Given the description of an element on the screen output the (x, y) to click on. 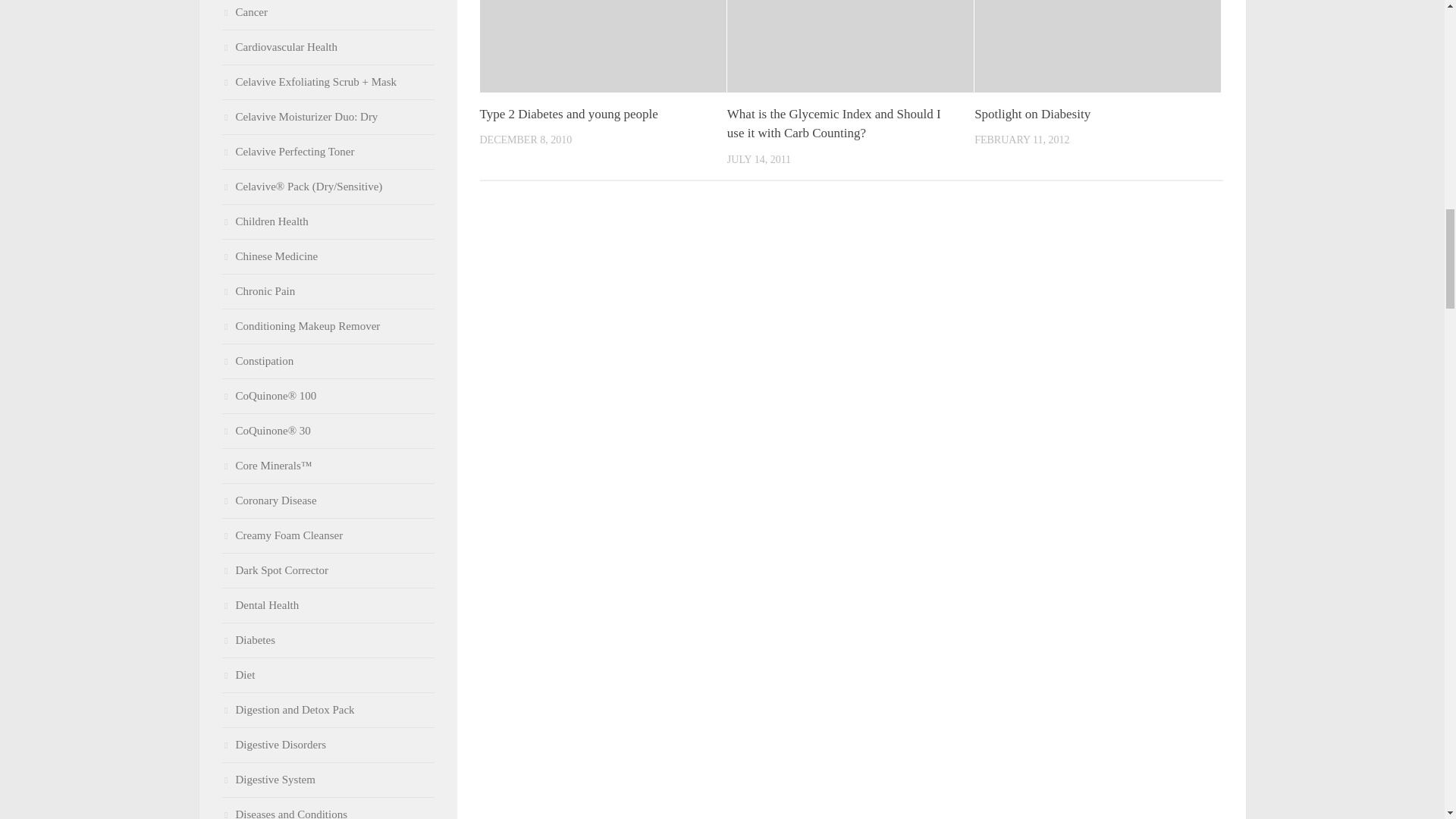
Spotlight on Diabesity (1032, 114)
Type 2 Diabetes and young people (568, 114)
Permalink to Spotlight on Diabesity (1032, 114)
Permalink to Type 2 Diabetes and young people (568, 114)
